Given the description of an element on the screen output the (x, y) to click on. 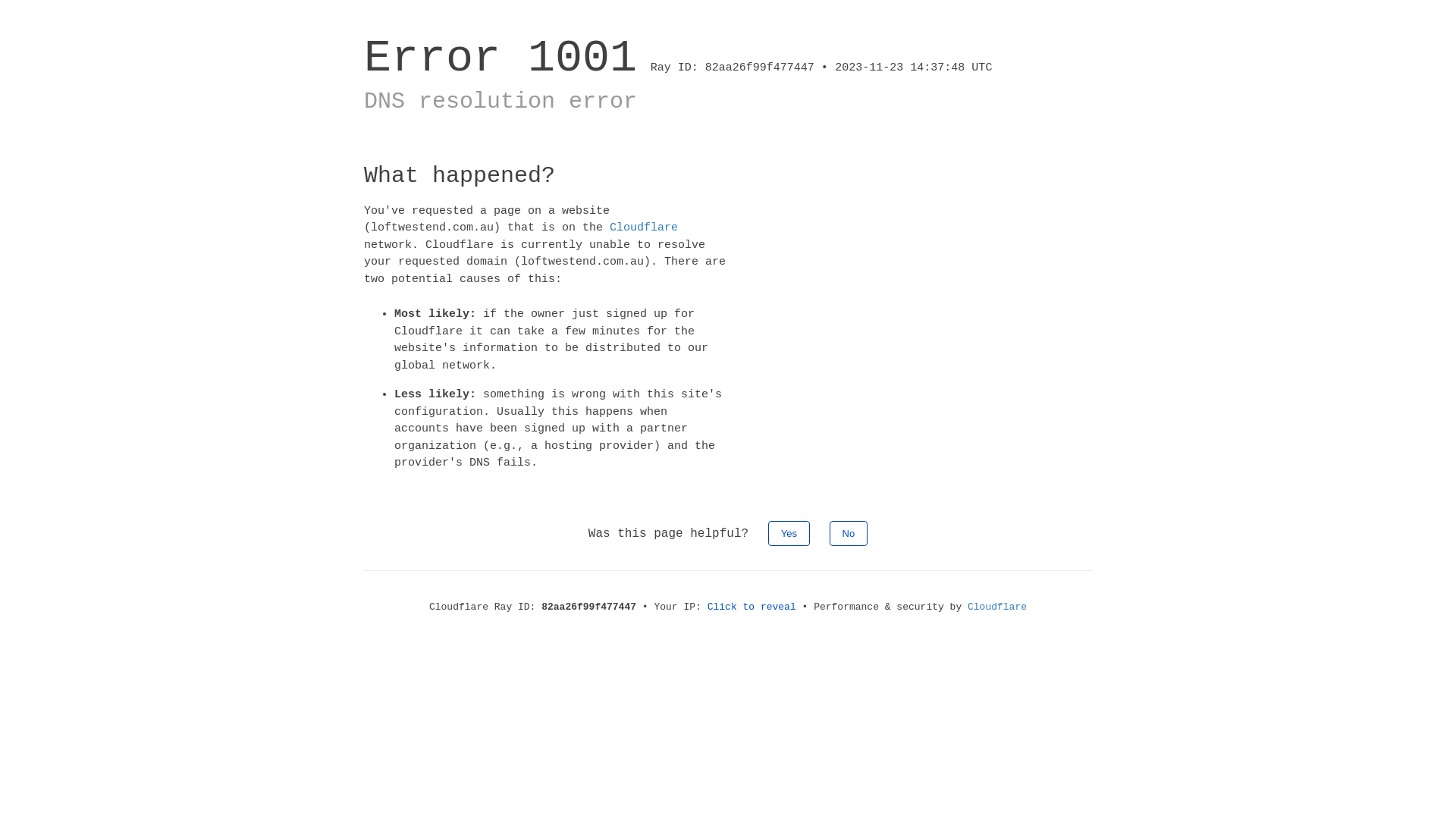
No Element type: text (848, 532)
Cloudflare Element type: text (996, 605)
Yes Element type: text (788, 532)
Cloudflare Element type: text (643, 227)
Click to reveal Element type: text (751, 605)
